Given the description of an element on the screen output the (x, y) to click on. 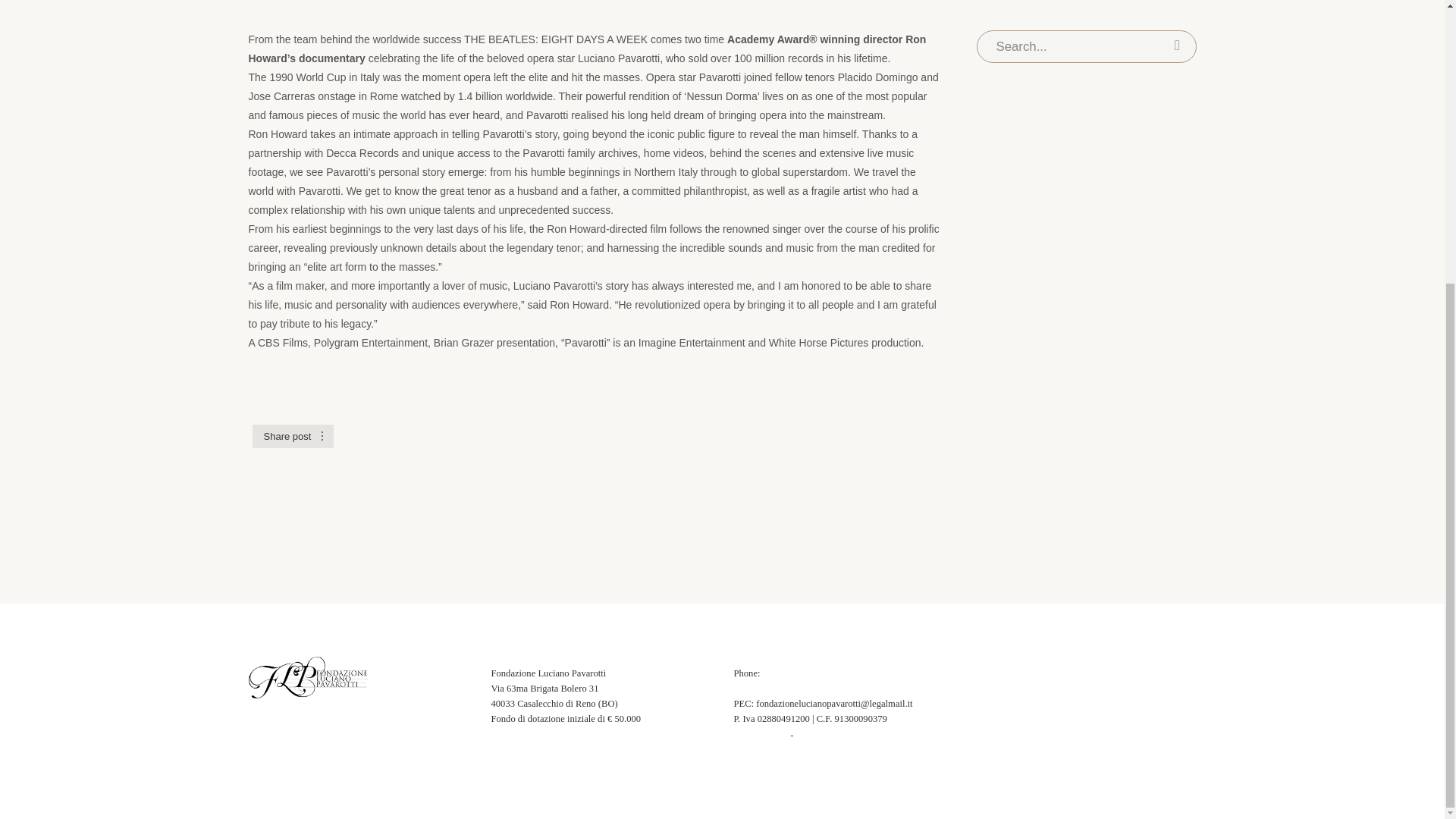
Privacy Policy (519, 734)
Cookie Policy (761, 734)
Share post (287, 436)
Preferences Cookie (833, 734)
Cookie Policy  (833, 734)
Privacy Policy (519, 734)
Cookie Policy (761, 734)
